Given the description of an element on the screen output the (x, y) to click on. 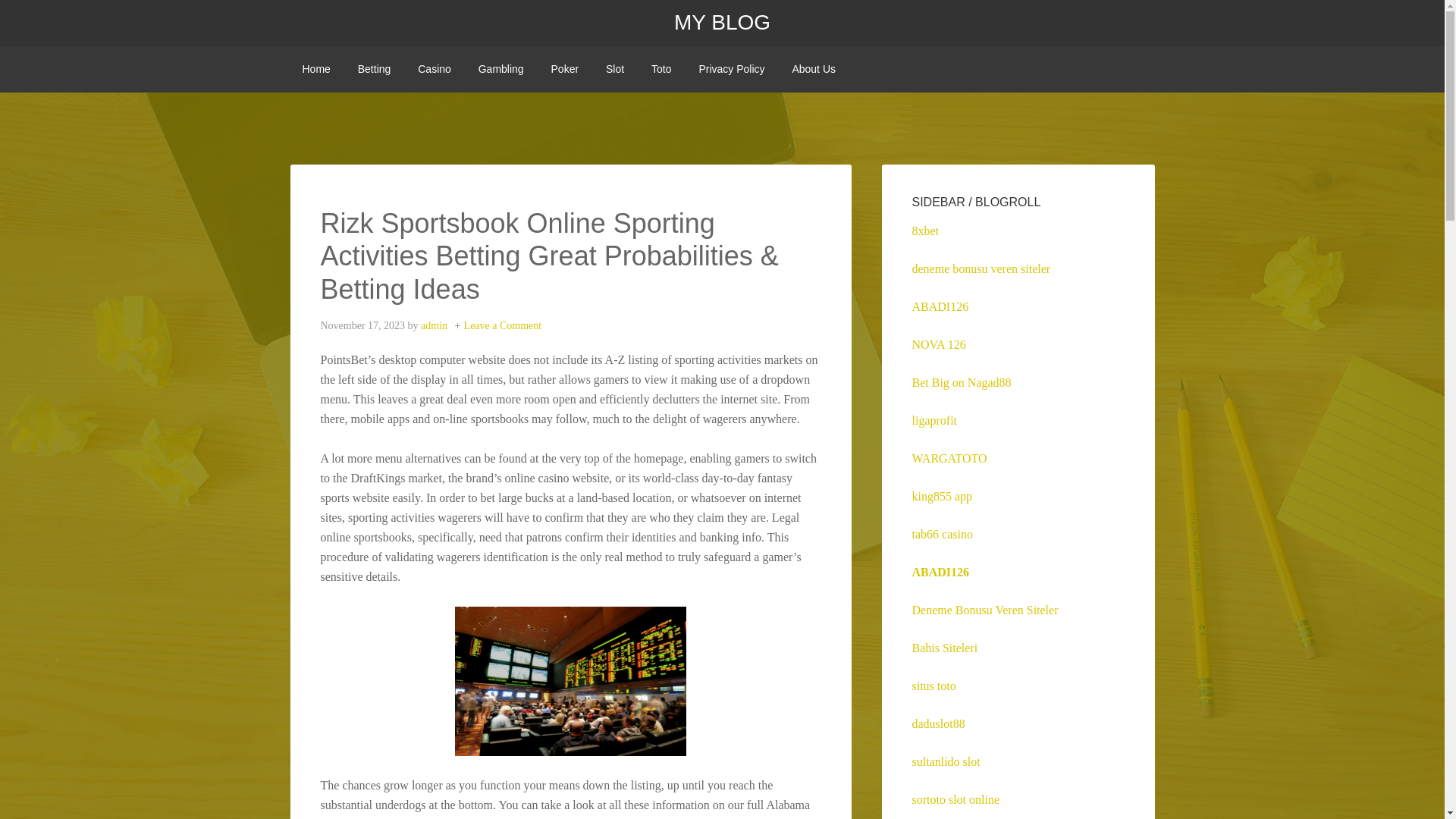
Home (315, 68)
Privacy Policy (730, 68)
sortoto slot online (954, 799)
Toto (660, 68)
ligaprofit (933, 420)
tab66 casino (941, 533)
situs toto (933, 685)
NOVA 126 (938, 344)
admin (433, 325)
Gambling (500, 68)
WARGATOTO (949, 458)
Betting (374, 68)
Casino (434, 68)
About Us (812, 68)
MY BLOG (722, 22)
